Given the description of an element on the screen output the (x, y) to click on. 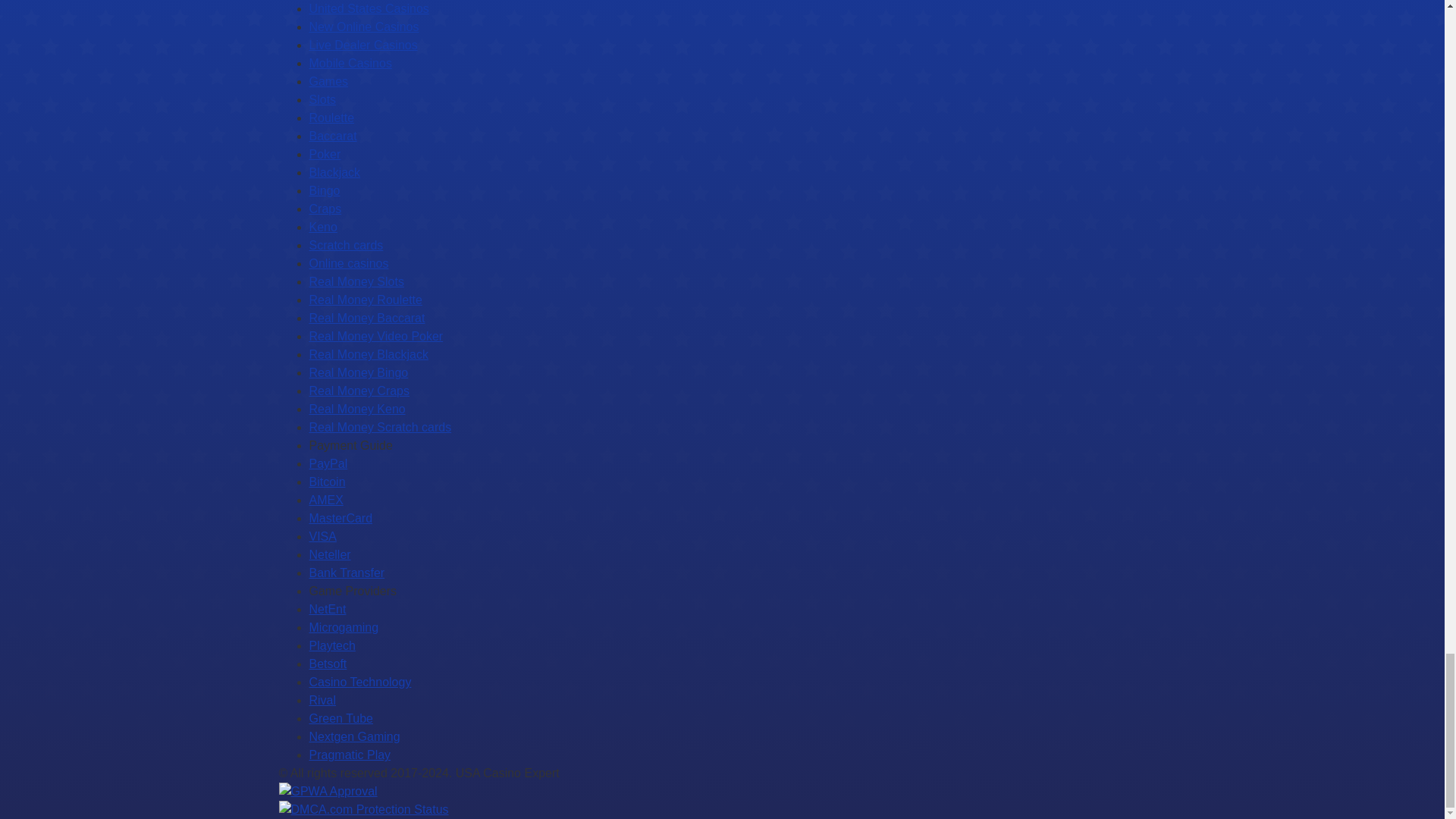
DMCA.com Protection Status (363, 809)
